Given the description of an element on the screen output the (x, y) to click on. 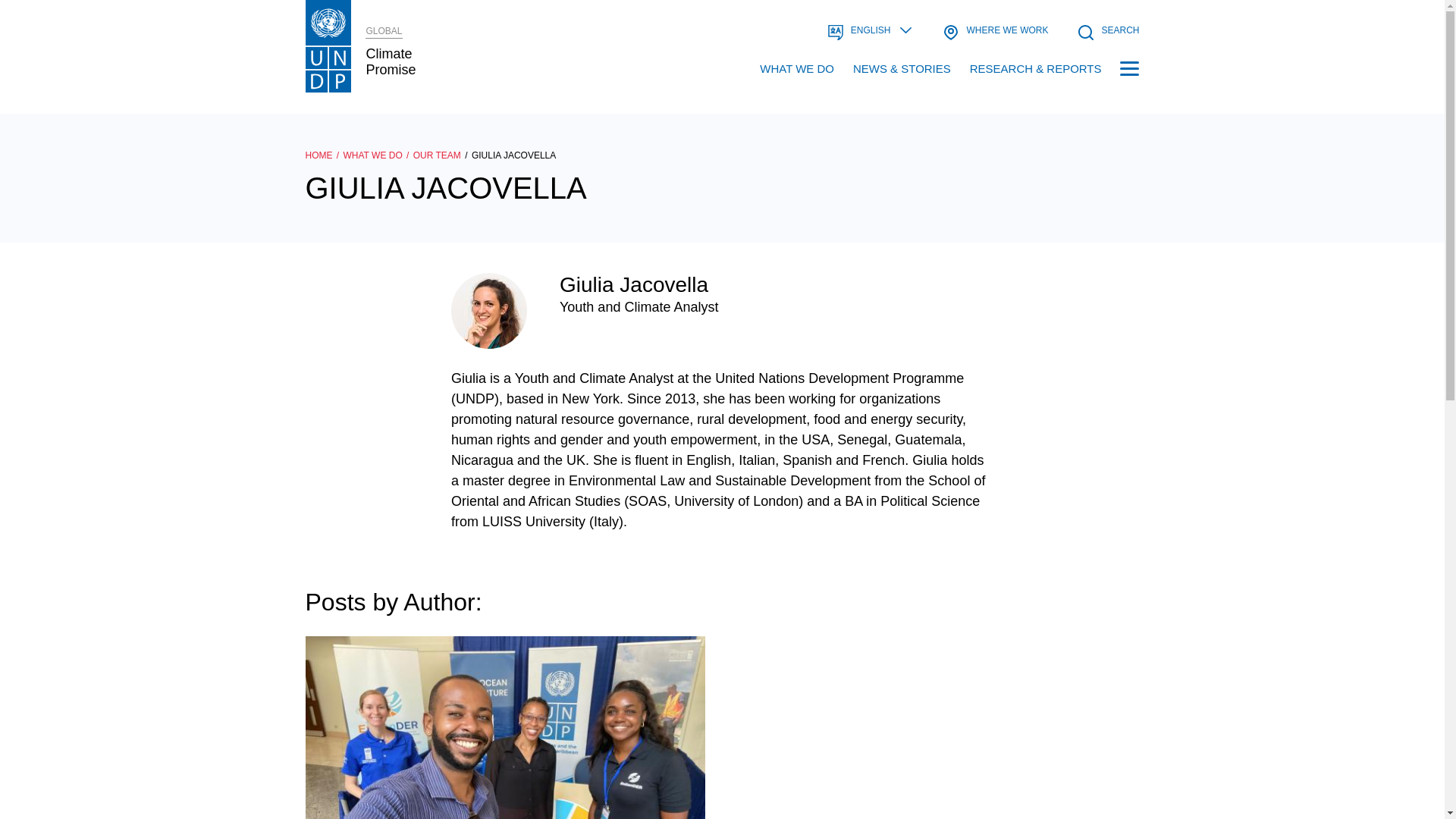
Photo: UNDP Barbados and Eastern Caribbean (504, 727)
